Given the description of an element on the screen output the (x, y) to click on. 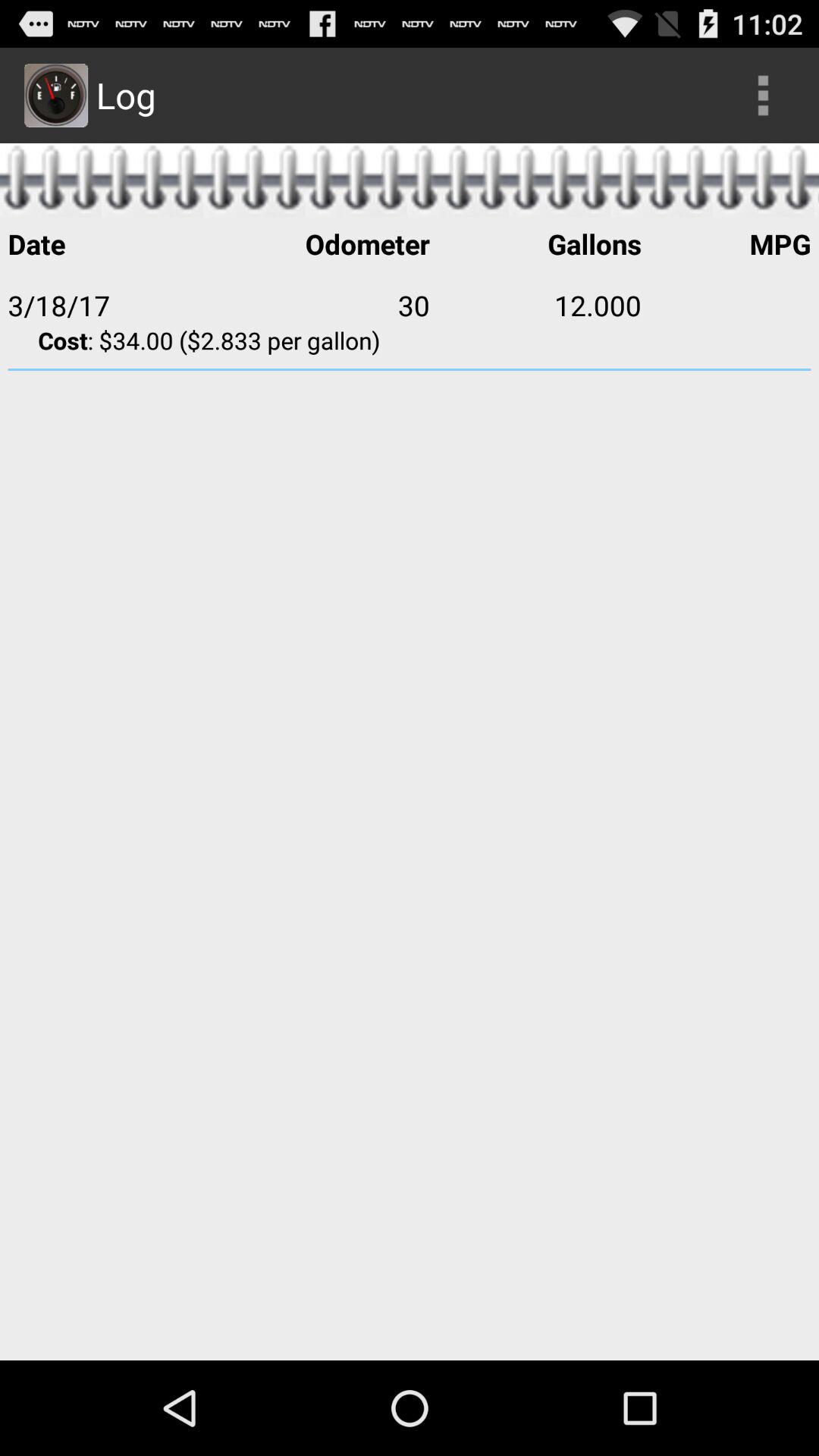
turn off 12.000 item (535, 305)
